Given the description of an element on the screen output the (x, y) to click on. 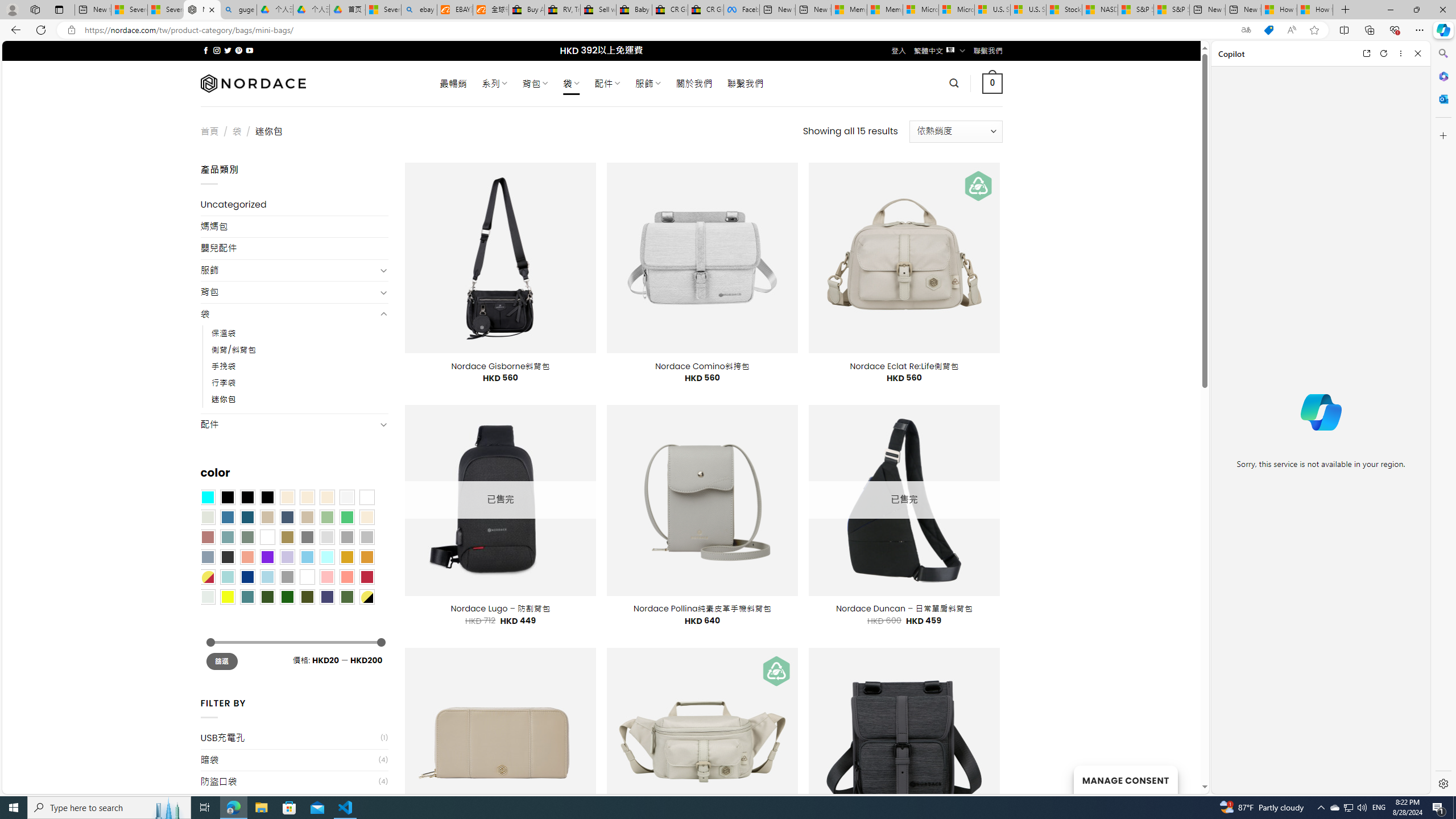
Follow on Pinterest (237, 50)
Uncategorized (294, 204)
Uncategorized (294, 204)
